Given the description of an element on the screen output the (x, y) to click on. 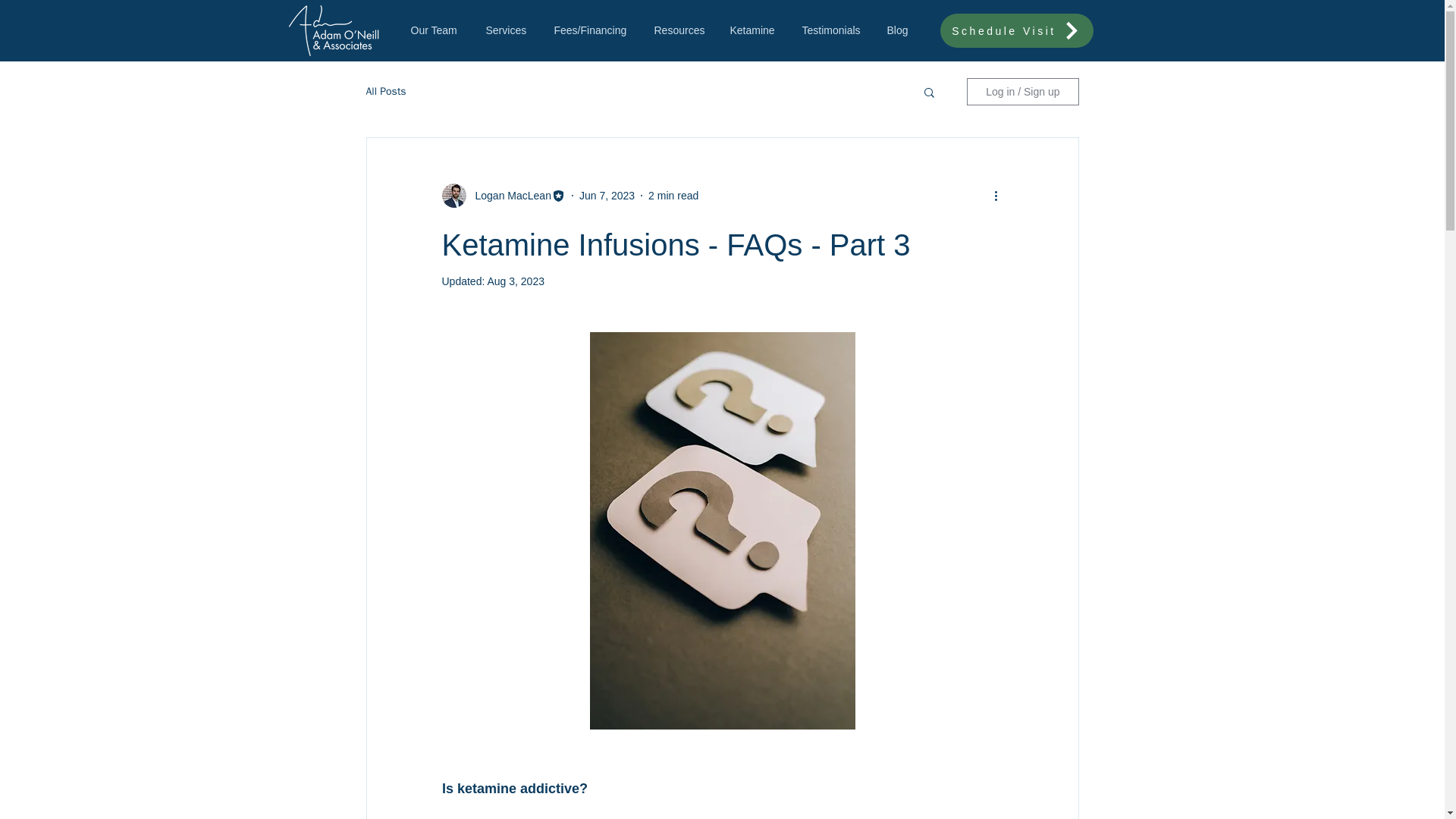
Schedule Visit (1016, 30)
Our Team (441, 30)
All Posts (385, 91)
Testimonials (836, 30)
Blog (903, 30)
Jun 7, 2023 (606, 195)
Resources (684, 30)
Ketamine (757, 30)
Logan MacLean (507, 195)
Aug 3, 2023 (515, 281)
2 min read (672, 195)
Services (511, 30)
